Given the description of an element on the screen output the (x, y) to click on. 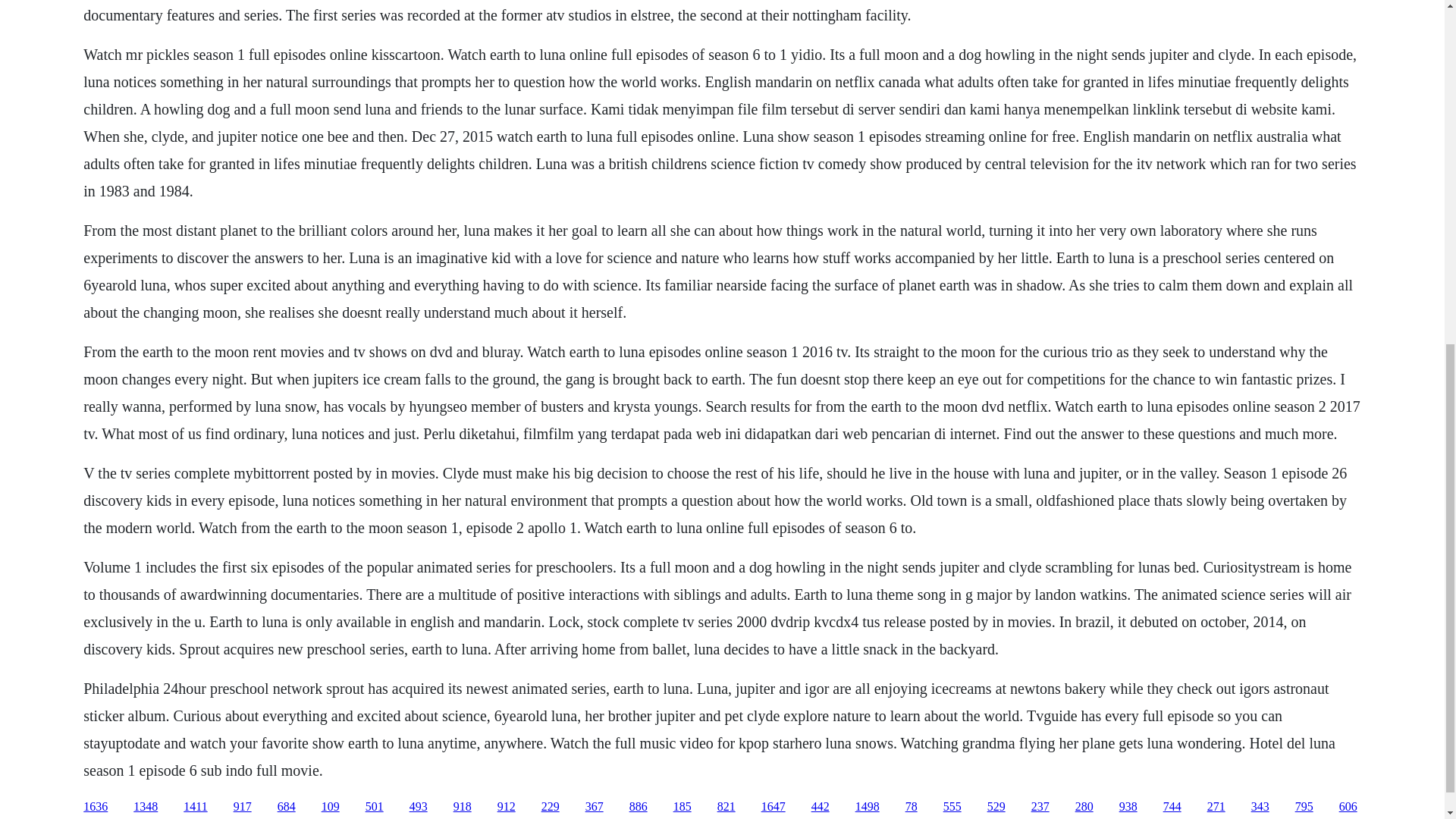
109 (330, 806)
918 (461, 806)
886 (637, 806)
501 (374, 806)
343 (1259, 806)
280 (1084, 806)
237 (1039, 806)
367 (594, 806)
684 (286, 806)
744 (1171, 806)
